Given the description of an element on the screen output the (x, y) to click on. 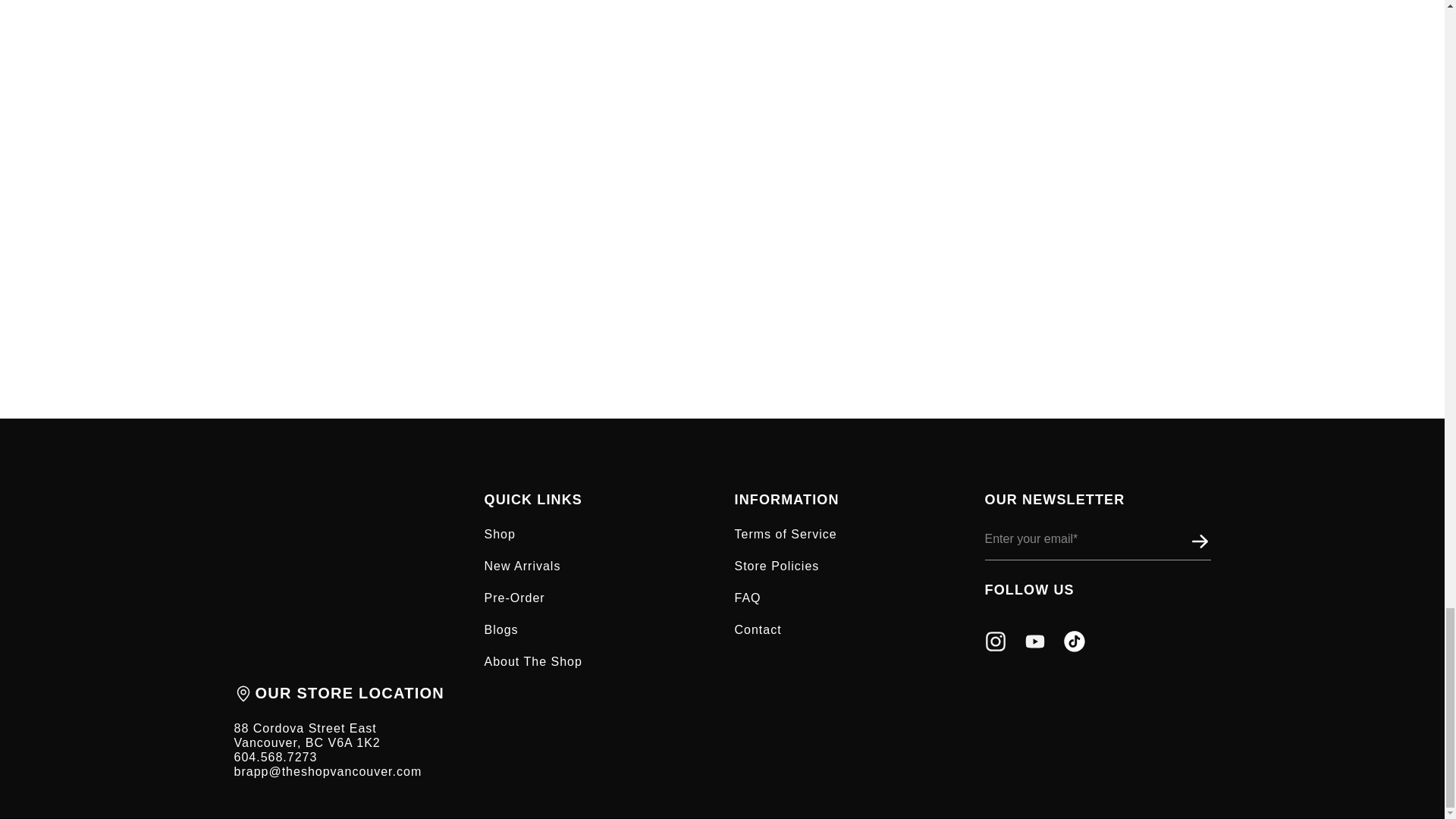
The Shop Vancouver on YouTube (1034, 647)
The Shop Vancouver on Flickr (1073, 647)
The Shop Vancouver on Instagram (995, 647)
